Given the description of an element on the screen output the (x, y) to click on. 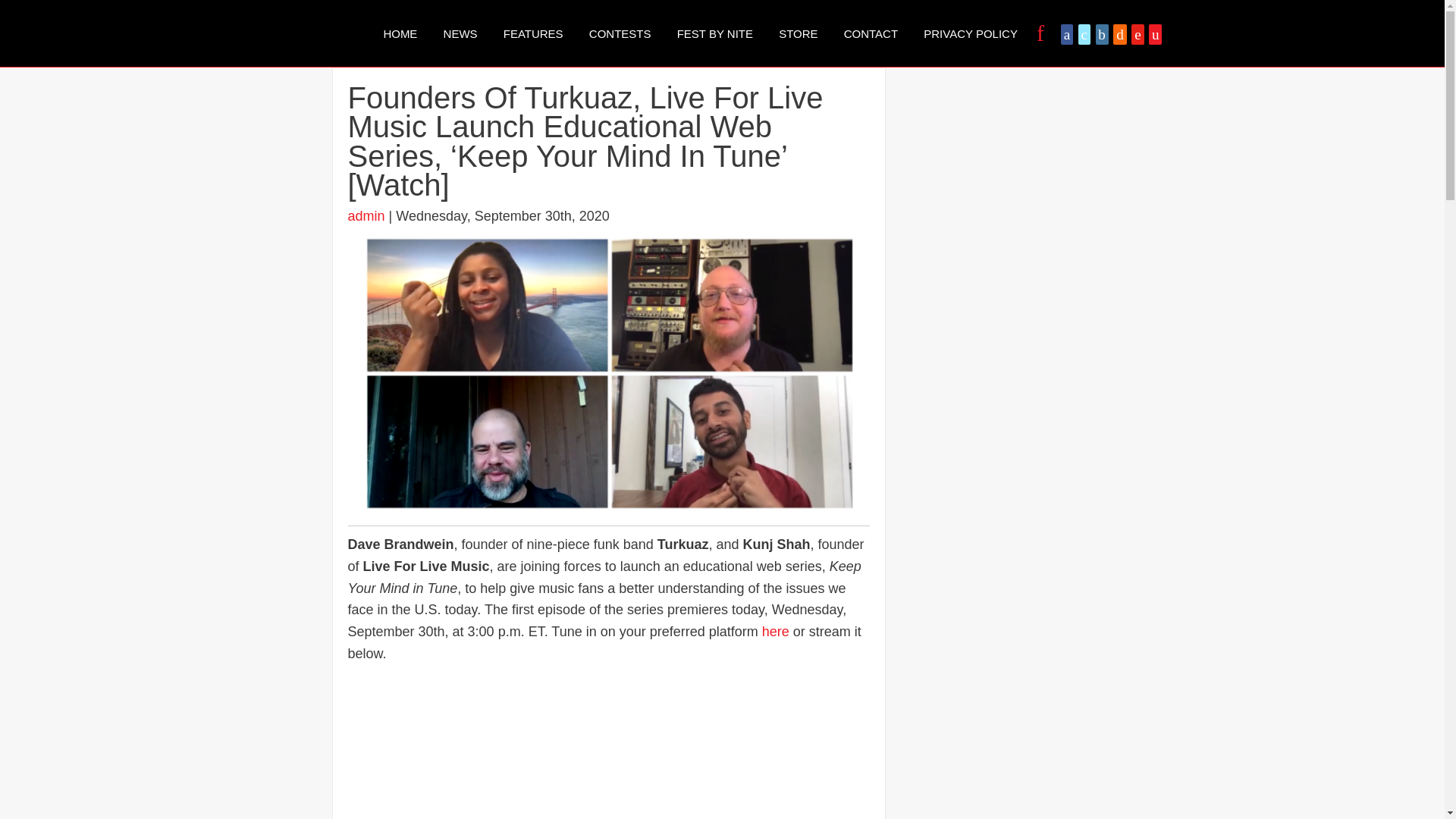
here (775, 631)
CONTACT (870, 33)
PRIVACY POLICY (970, 33)
STORE (797, 33)
L4LM (308, 32)
CONTESTS (620, 33)
FEATURES (533, 33)
NEWS (460, 33)
HOME (399, 33)
FEST BY NITE (714, 33)
